Given the description of an element on the screen output the (x, y) to click on. 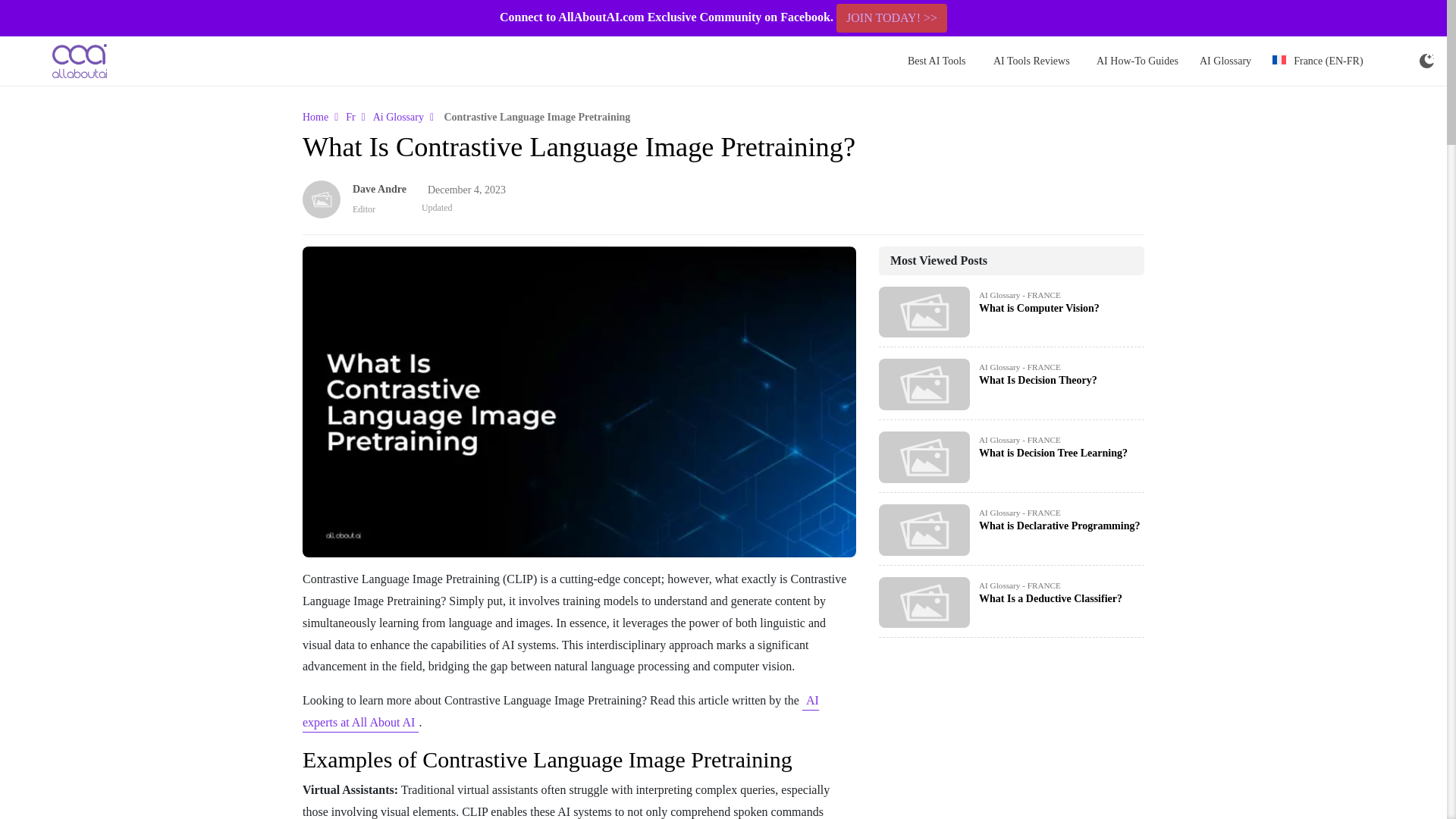
close (1435, 18)
AI Glossary (1225, 60)
Ai Glossary (397, 116)
AI How-To Guides (1137, 60)
Fr (350, 116)
Home (315, 116)
Best AI Tools (936, 60)
AI Tools Reviews (1031, 60)
